Given the description of an element on the screen output the (x, y) to click on. 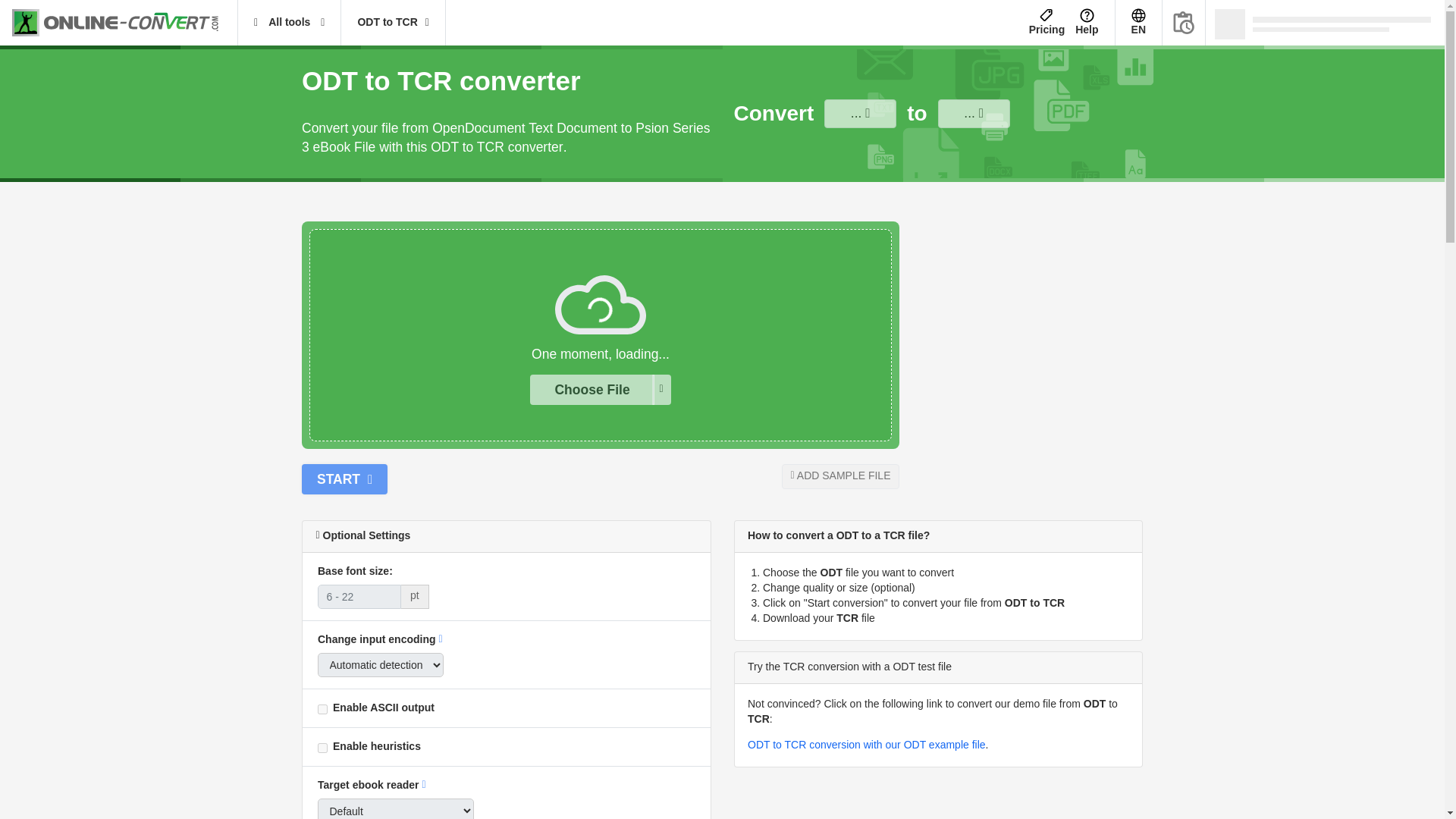
All tools (289, 22)
Free Online converter tool (124, 22)
on (322, 709)
on (322, 747)
ODT to TCR (392, 22)
